Given the description of an element on the screen output the (x, y) to click on. 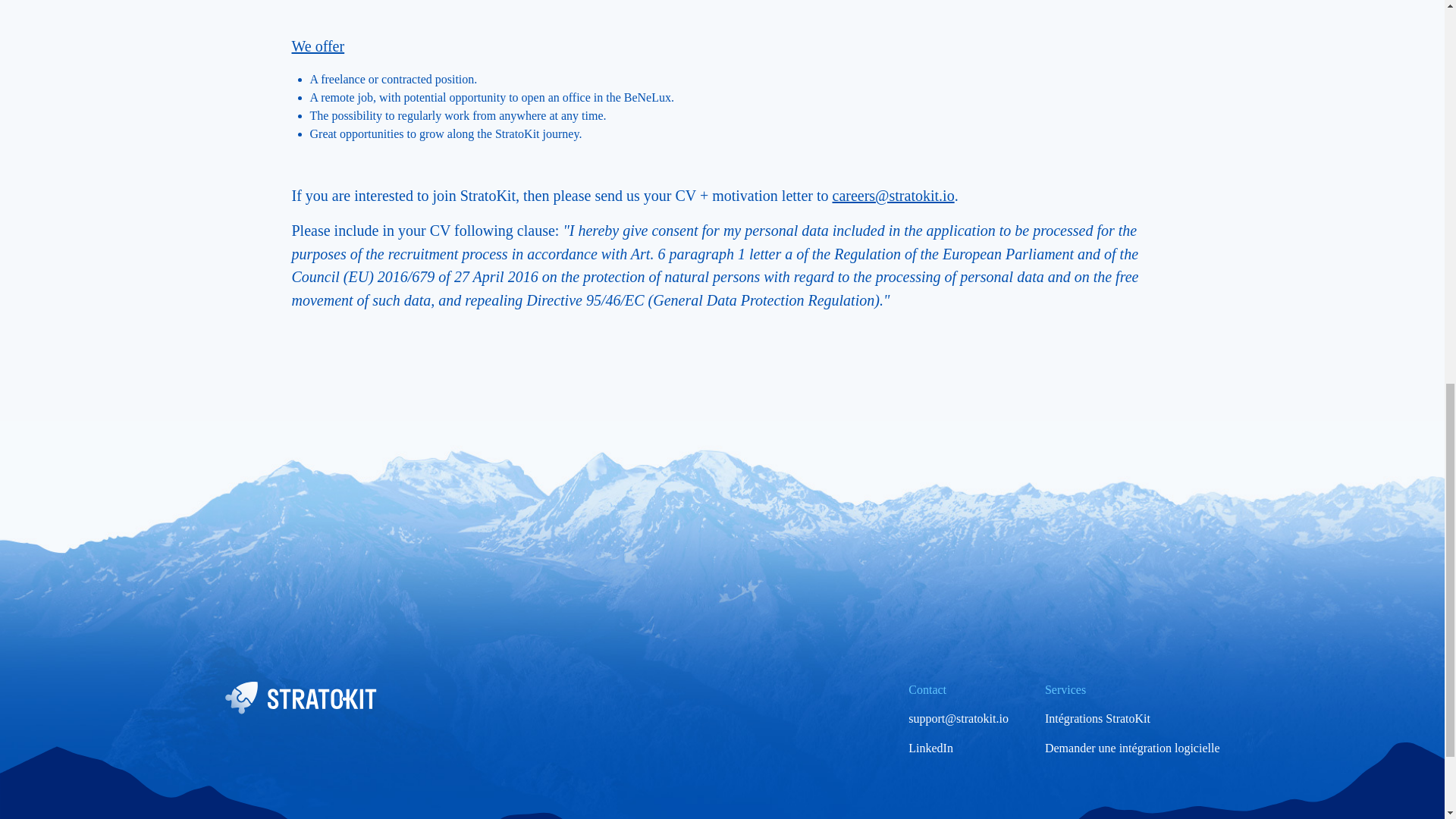
LinkedIn (930, 748)
